Given the description of an element on the screen output the (x, y) to click on. 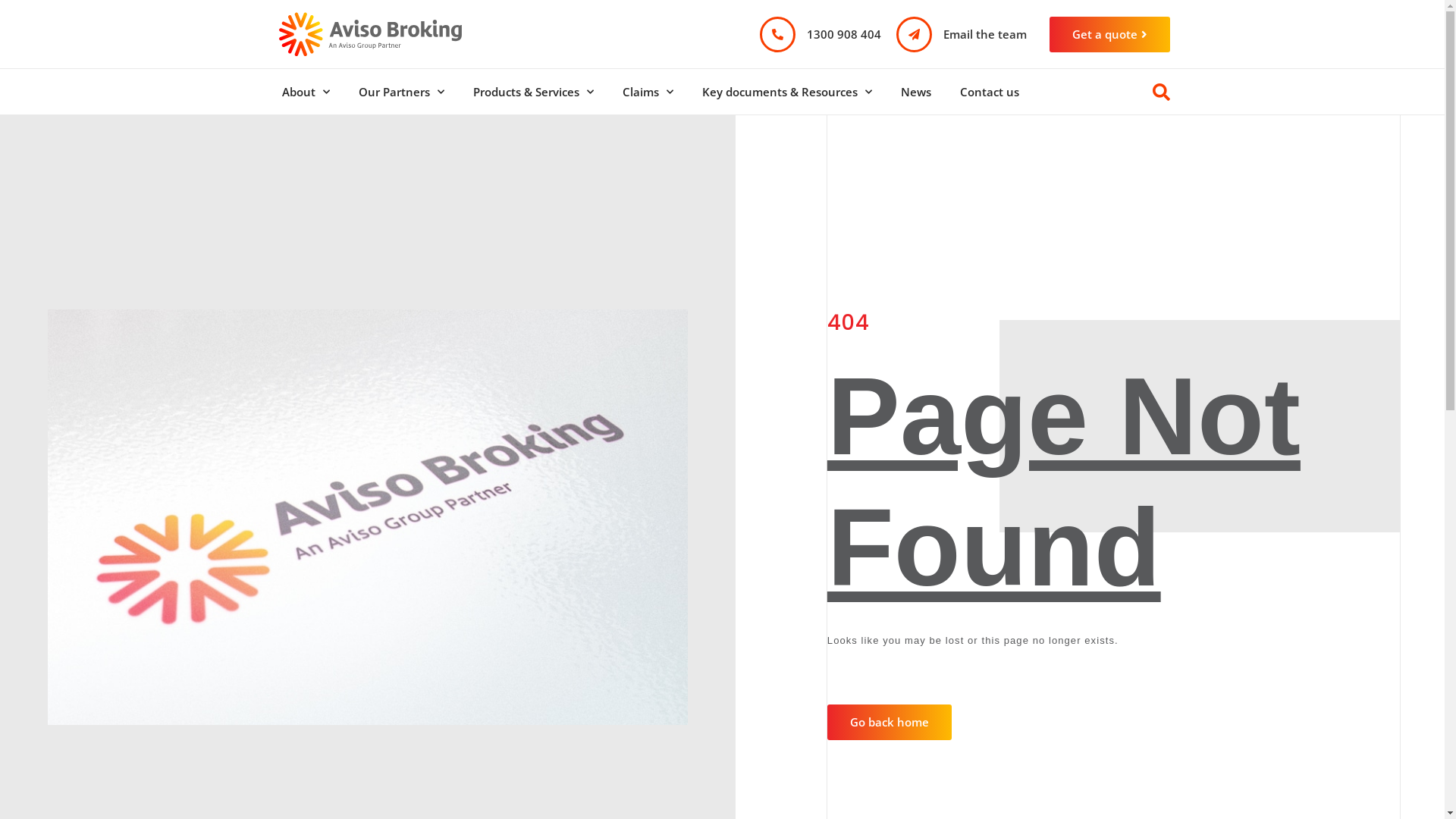
1300 908 404 Element type: text (843, 32)
News Element type: text (914, 91)
Products & Services Element type: text (532, 91)
Contact us Element type: text (988, 91)
About Element type: text (304, 91)
Claims Element type: text (647, 91)
Go back home Element type: text (889, 722)
Get a quote Element type: text (1109, 34)
Our Partners Element type: text (401, 91)
Email the team Element type: text (984, 32)
Key documents & Resources Element type: text (786, 91)
